Given the description of an element on the screen output the (x, y) to click on. 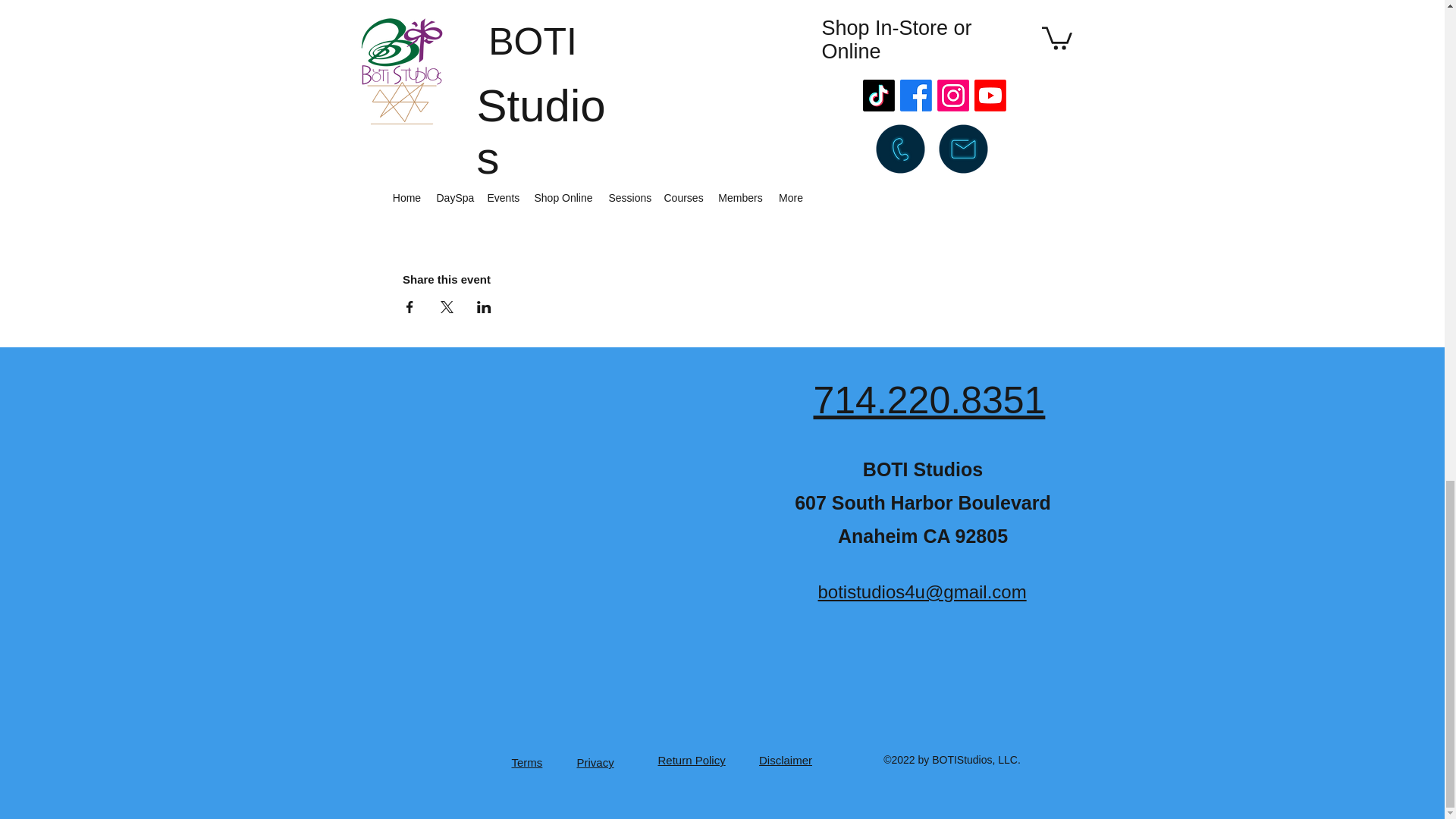
Disclaimer (785, 759)
Privacy (594, 762)
714.220.8351 (928, 400)
Return Policy (691, 759)
Terms (526, 762)
